Given the description of an element on the screen output the (x, y) to click on. 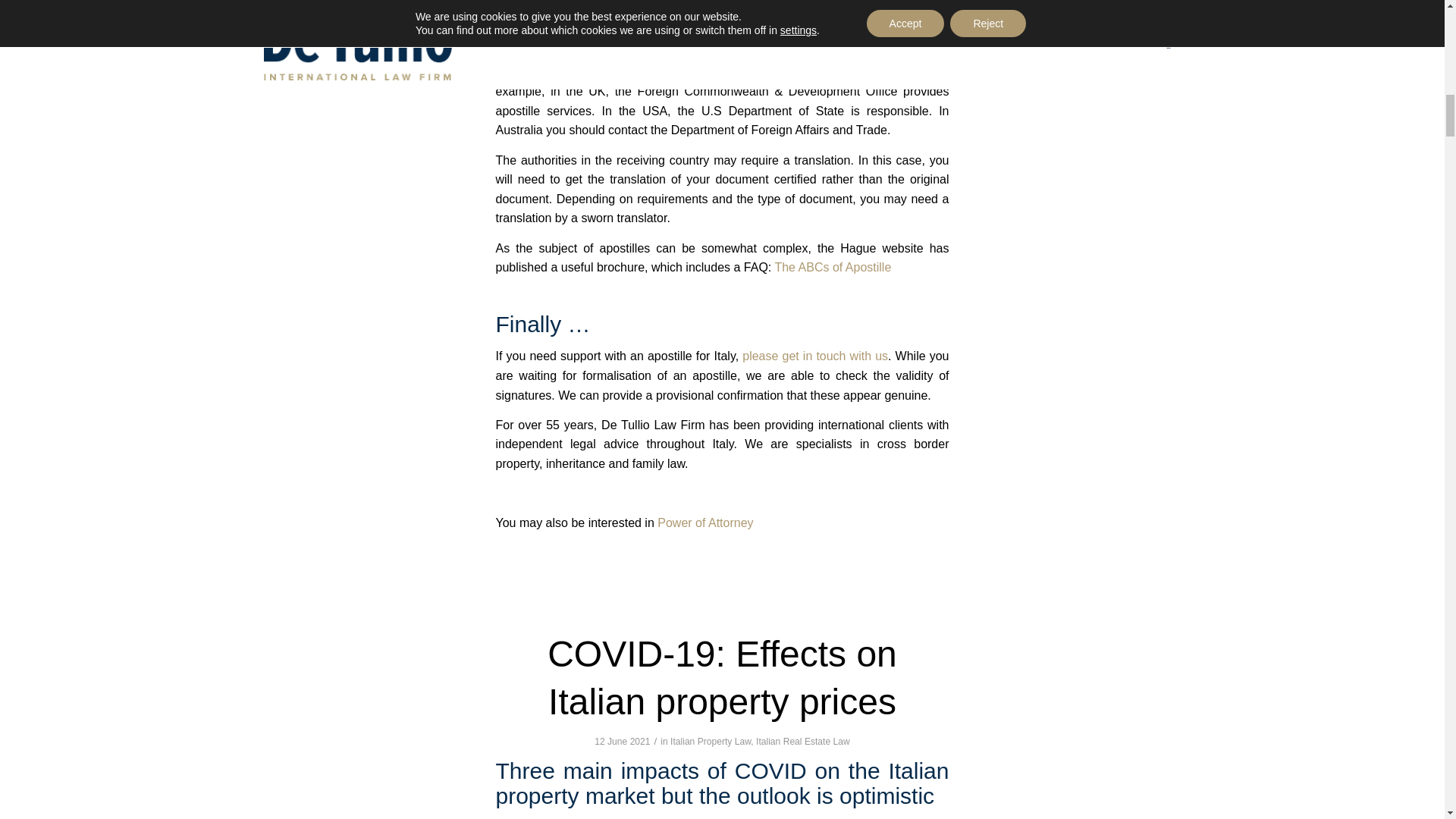
please get in touch with us (815, 355)
COVID-19: Effects on Italian property prices (721, 677)
Permanent Link: COVID-19: Effects on Italian property prices (721, 677)
The ABCs of Apostille (832, 267)
Italian Real Estate Law (802, 741)
Italian Property Law (710, 741)
Power of Attorney (705, 522)
